Given the description of an element on the screen output the (x, y) to click on. 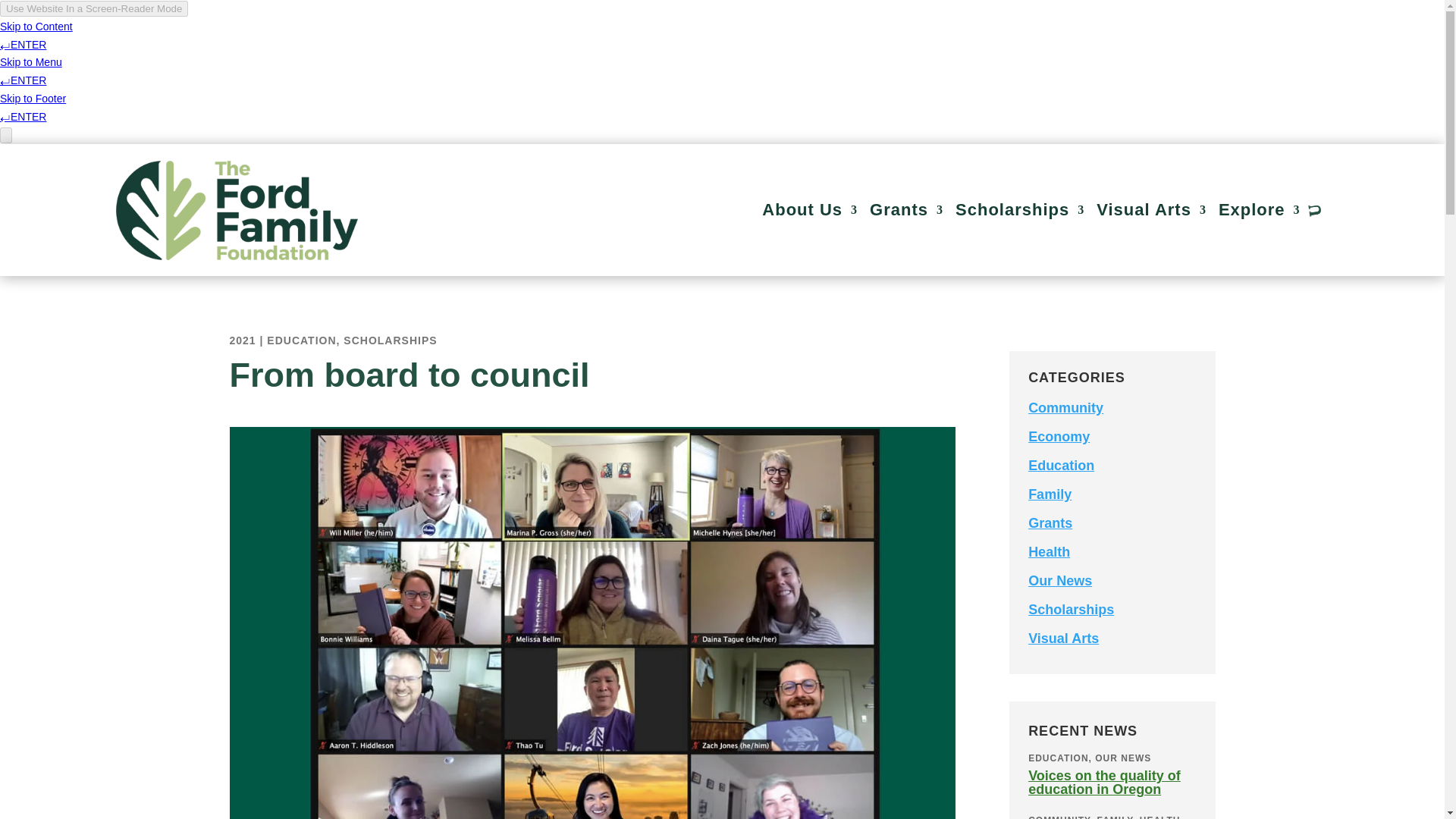
Scholarships (1019, 210)
Visual Arts (1151, 210)
About Us (809, 210)
